Given the description of an element on the screen output the (x, y) to click on. 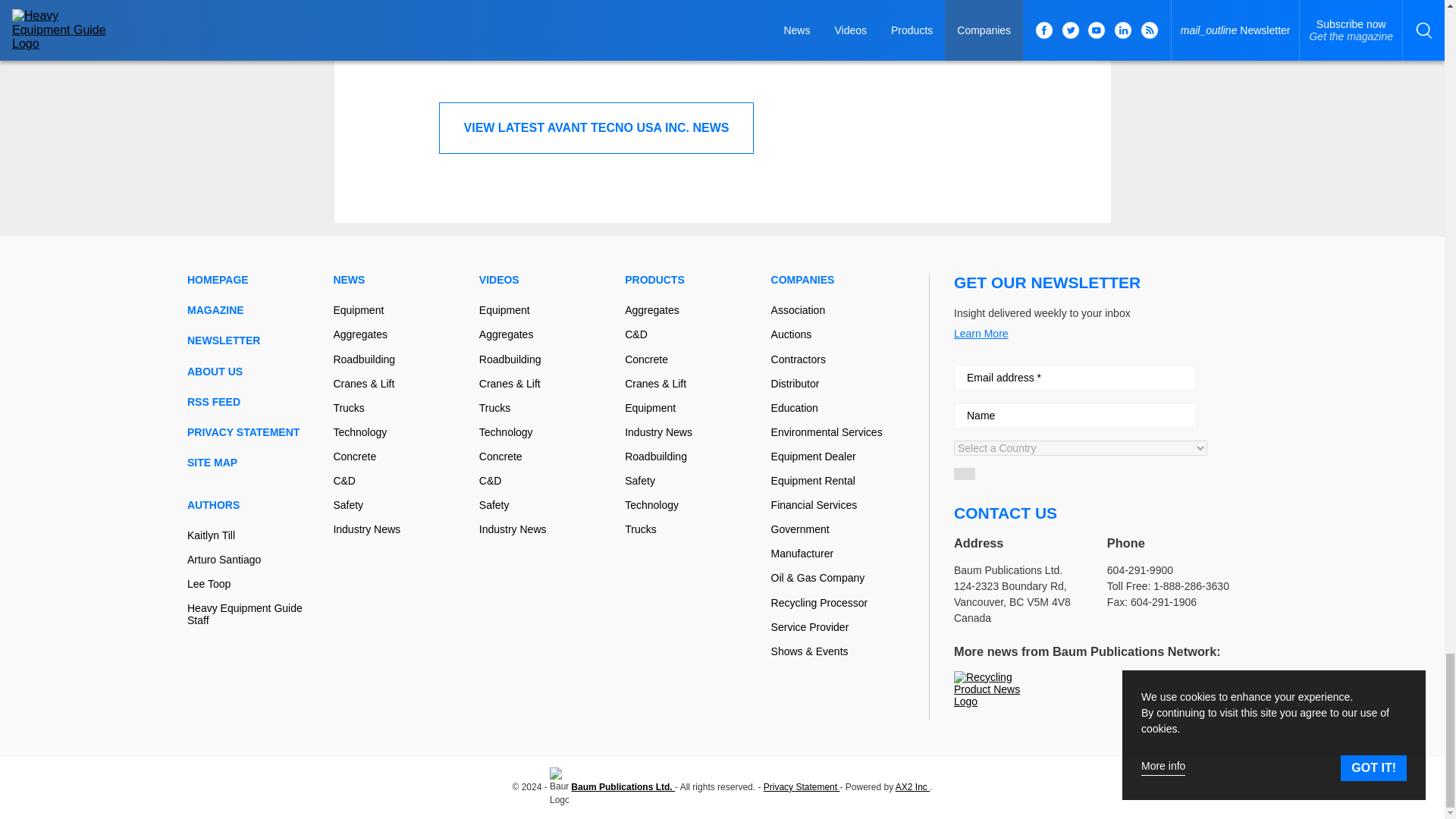
NEWSLETTER (253, 340)
MAGAZINE (253, 309)
HOMEPAGE (253, 279)
RSS FEED (253, 401)
ABOUT US (253, 371)
VIEW LATEST AVANT TECNO USA INC. NEWS (596, 127)
